Given the description of an element on the screen output the (x, y) to click on. 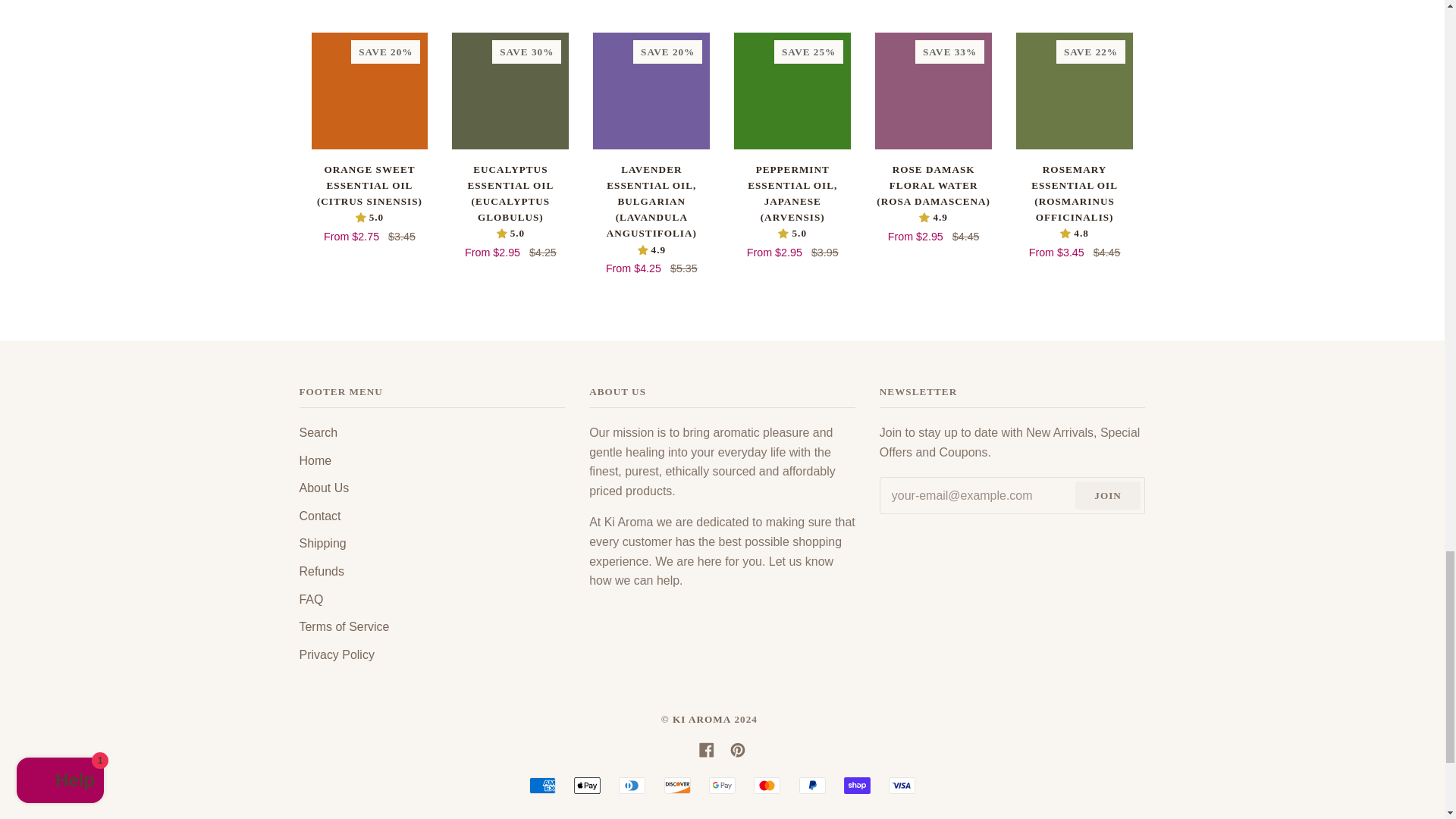
SHOP PAY (857, 785)
GOOGLE PAY (722, 785)
MASTERCARD (767, 785)
AMERICAN EXPRESS (542, 785)
PAYPAL (812, 785)
Facebook (706, 749)
DINERS CLUB (631, 785)
Pinterest (737, 749)
VISA (901, 785)
APPLE PAY (586, 785)
DISCOVER (676, 785)
